Given the description of an element on the screen output the (x, y) to click on. 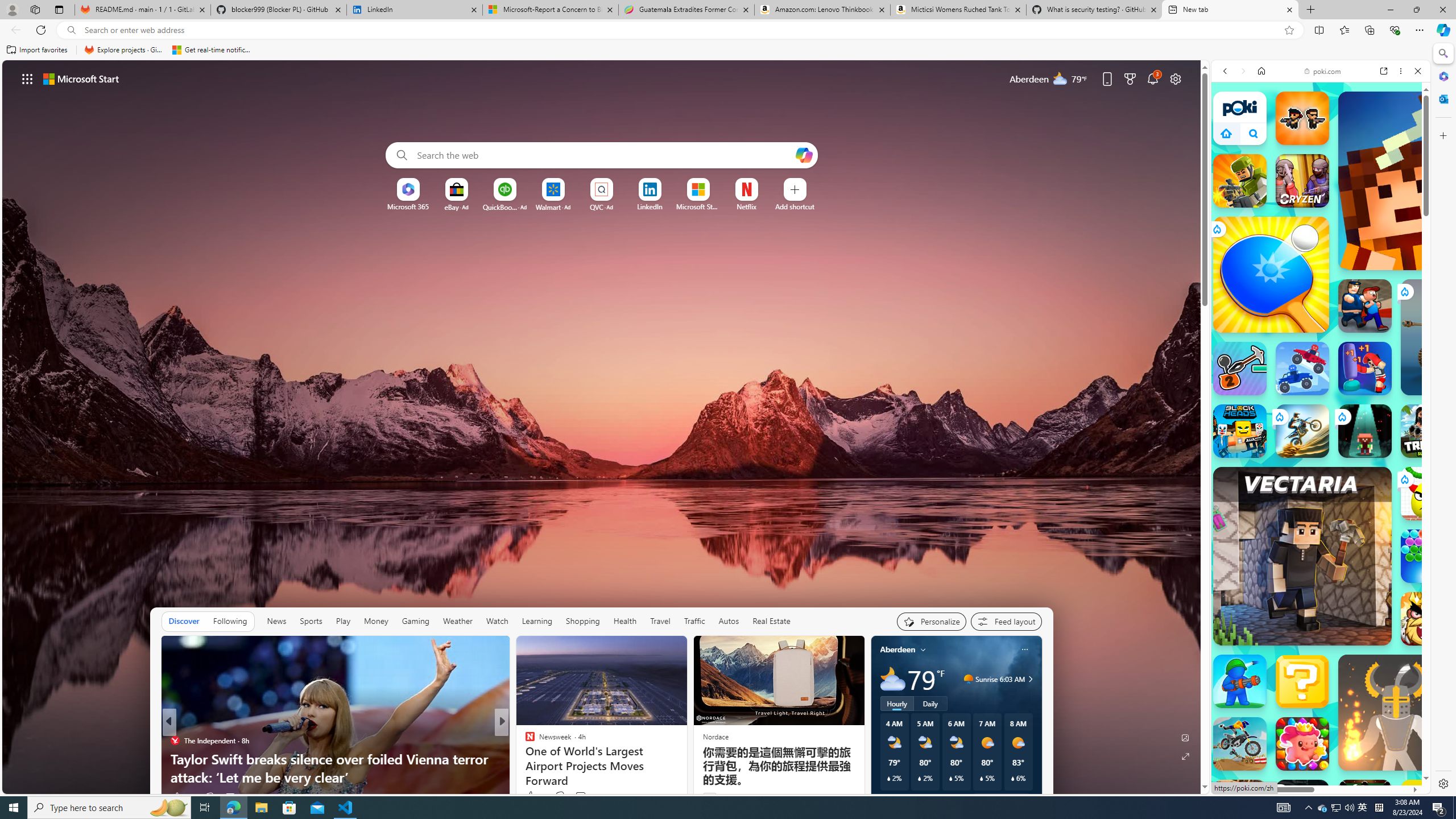
Class: B_5ykBA46kDOxiz_R9wm (1253, 133)
Personalize your feed" (931, 621)
Mystery Tile (1302, 681)
85 Like (530, 796)
House Beautiful (524, 740)
poki.com (1322, 70)
Sports Games (1320, 397)
